Given the description of an element on the screen output the (x, y) to click on. 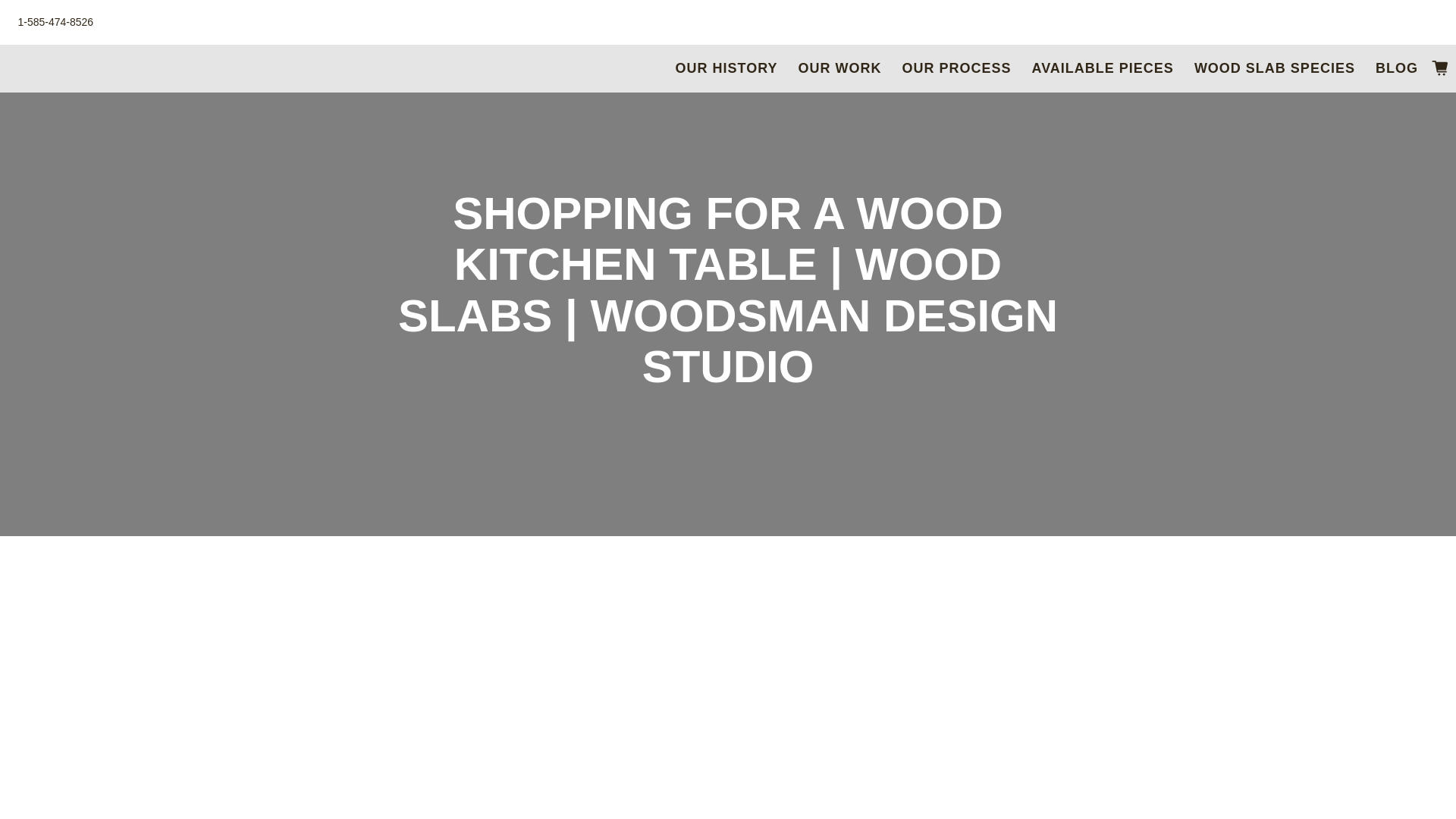
AVAILABLE PIECES (1102, 67)
OUR HISTORY (726, 67)
BLOG (1396, 67)
WOOD SLAB SPECIES (1274, 67)
OUR WORK (839, 67)
OUR PROCESS (956, 67)
